Given the description of an element on the screen output the (x, y) to click on. 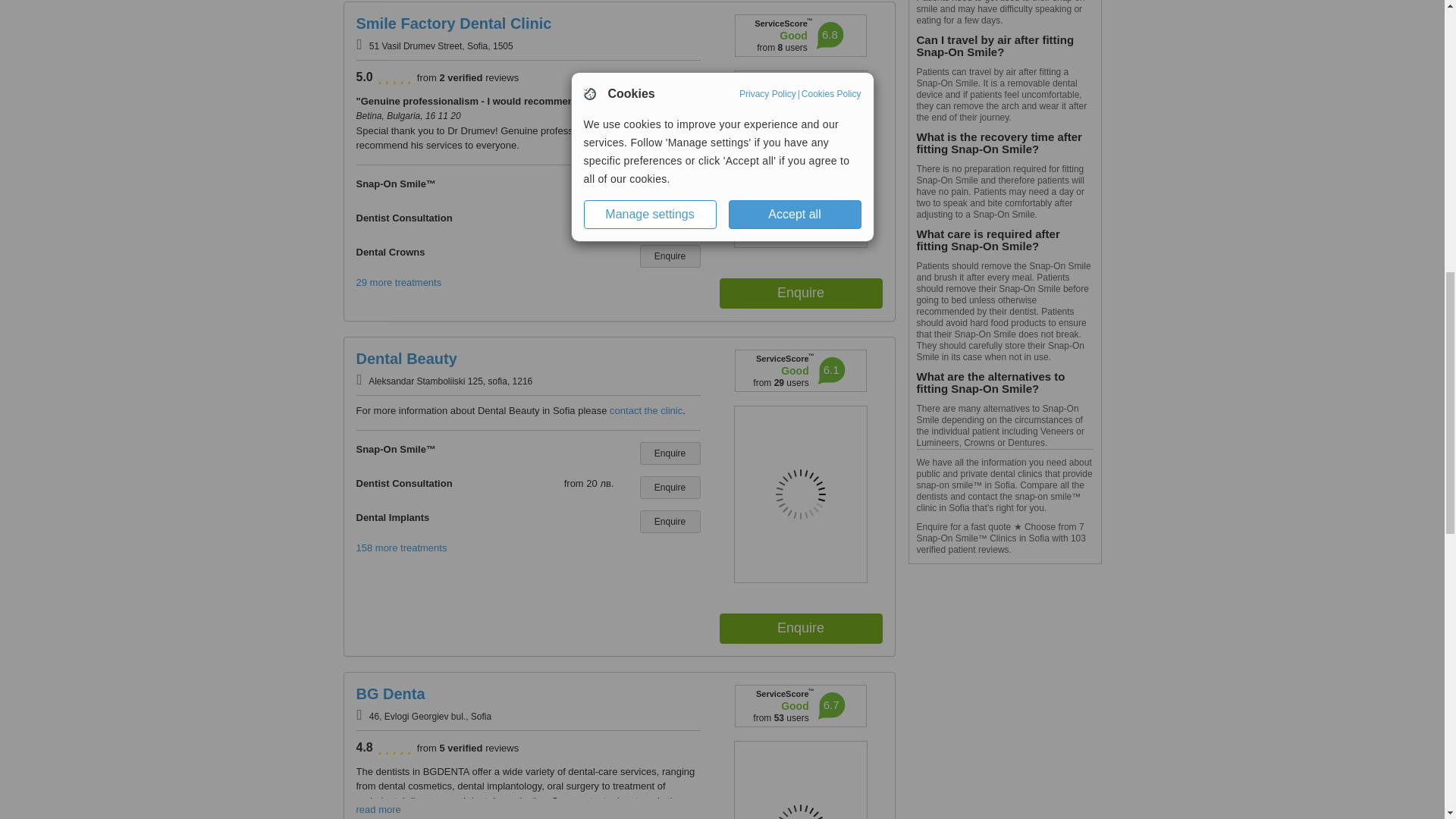
Enquire (670, 521)
Enquire (670, 255)
Enquire (670, 221)
Enquire (670, 486)
Enquire (800, 628)
Enquire (800, 293)
Enquire (670, 453)
Enquire (670, 187)
